Given the description of an element on the screen output the (x, y) to click on. 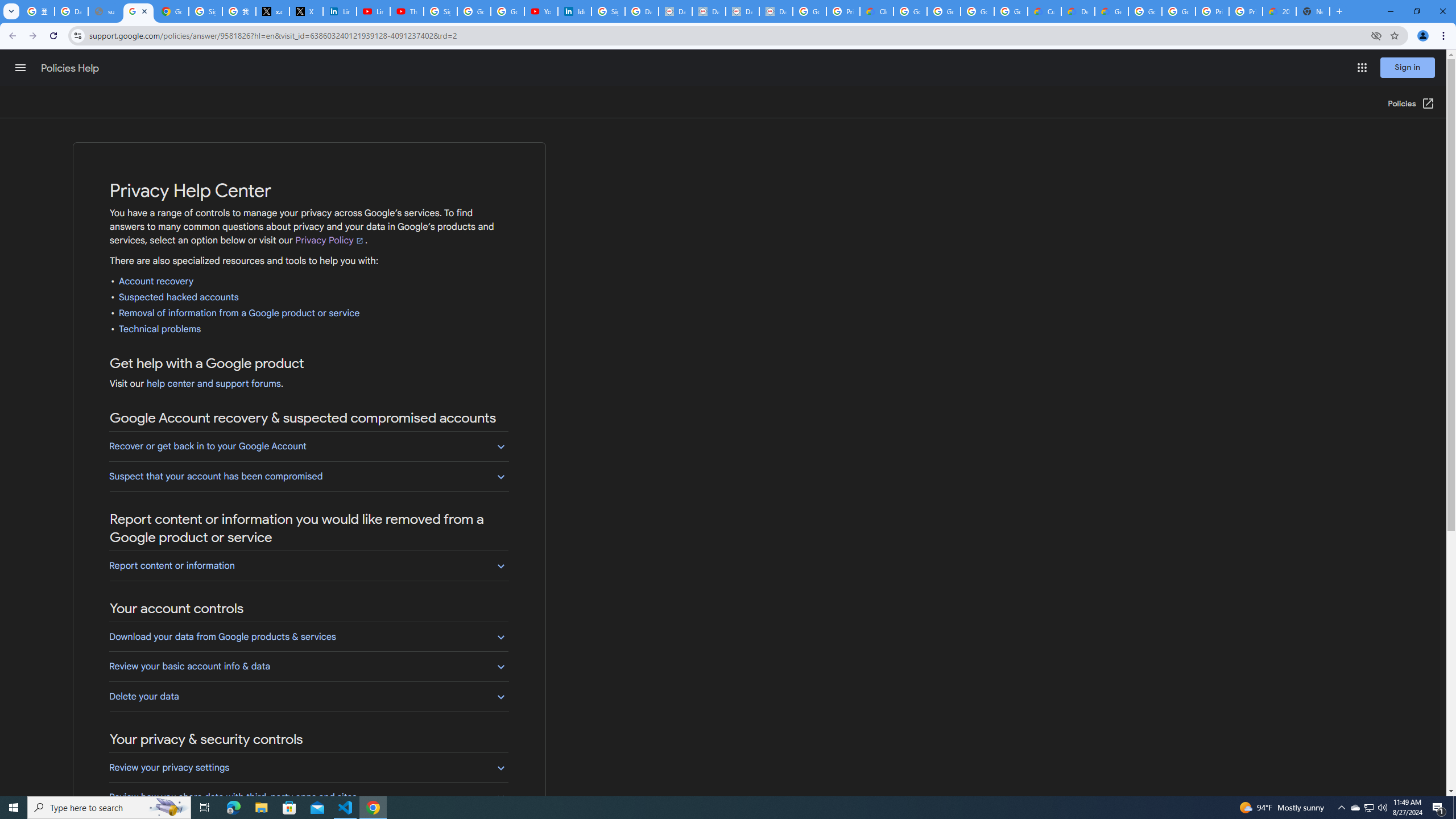
Report content or information (308, 565)
Customer Care | Google Cloud (1043, 11)
Sign in - Google Accounts (441, 11)
Google Workspace - Specific Terms (976, 11)
Privacy Help Center - Policies Help (138, 11)
Data Privacy Framework (675, 11)
X (305, 11)
